Given the description of an element on the screen output the (x, y) to click on. 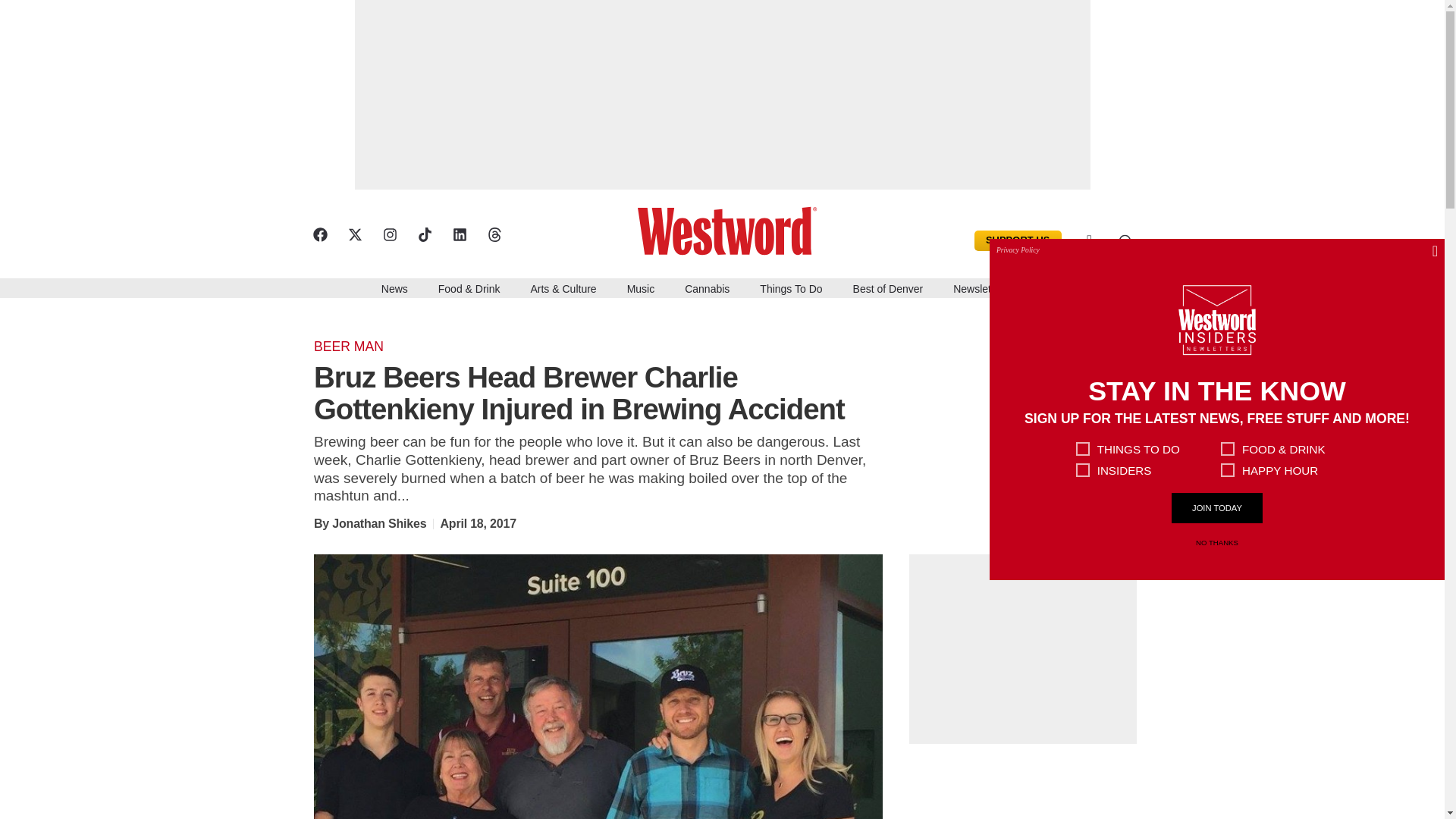
facebook (319, 234)
SUPPORT US (1017, 240)
instagram (388, 234)
tiktok (423, 234)
threads (493, 234)
linkedin (458, 234)
Westword (731, 228)
twitter (354, 234)
